Given the description of an element on the screen output the (x, y) to click on. 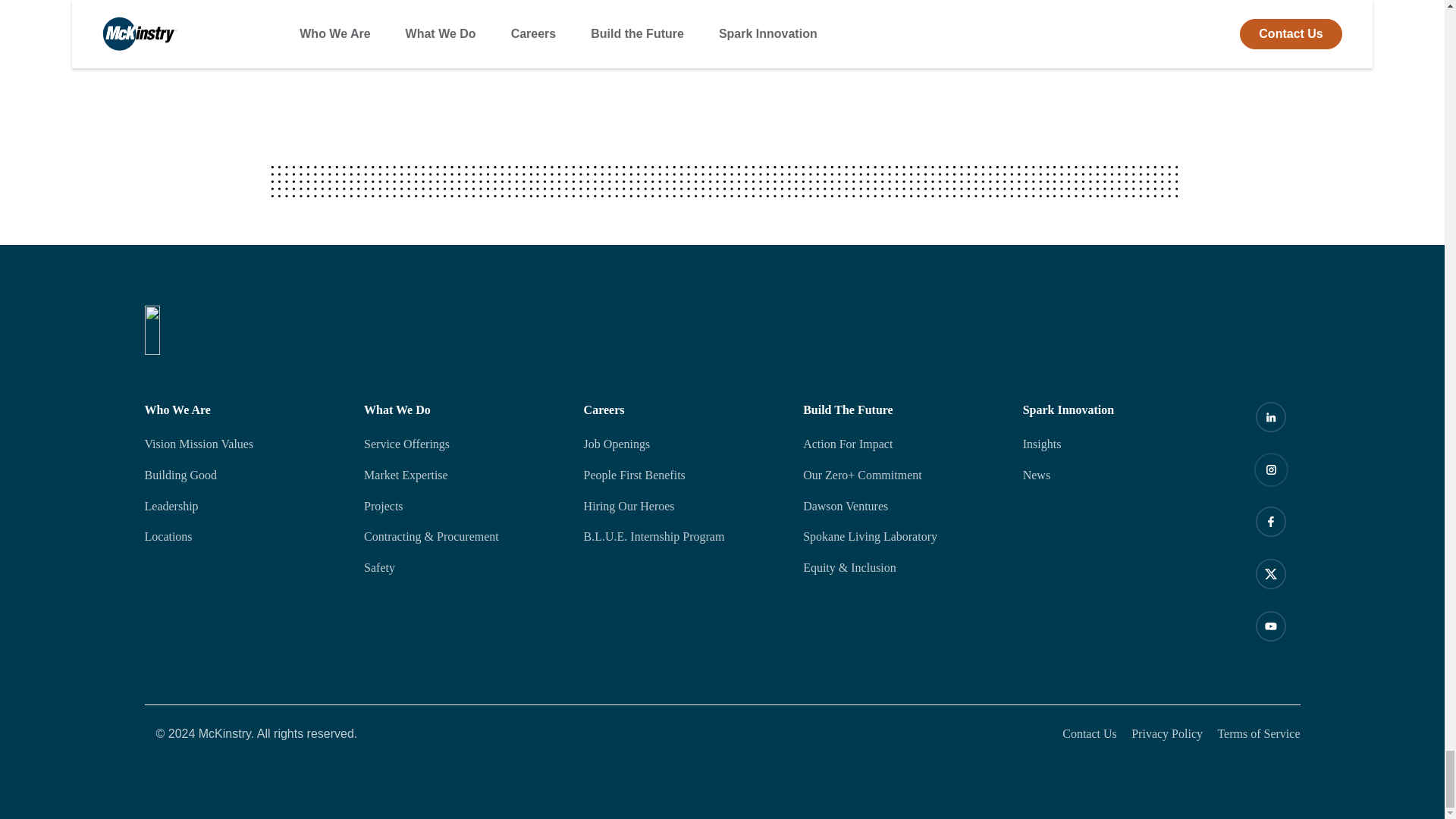
Who We Are (242, 410)
Safety (462, 567)
Who We Are (242, 410)
Job Openings (681, 444)
What We Do (462, 410)
Locations (242, 537)
Service Offerings (462, 444)
Projects (462, 506)
Building Good (242, 475)
Market Expertise (462, 475)
Vision Mission Values (242, 444)
Leadership (242, 506)
Careers (681, 410)
